Given the description of an element on the screen output the (x, y) to click on. 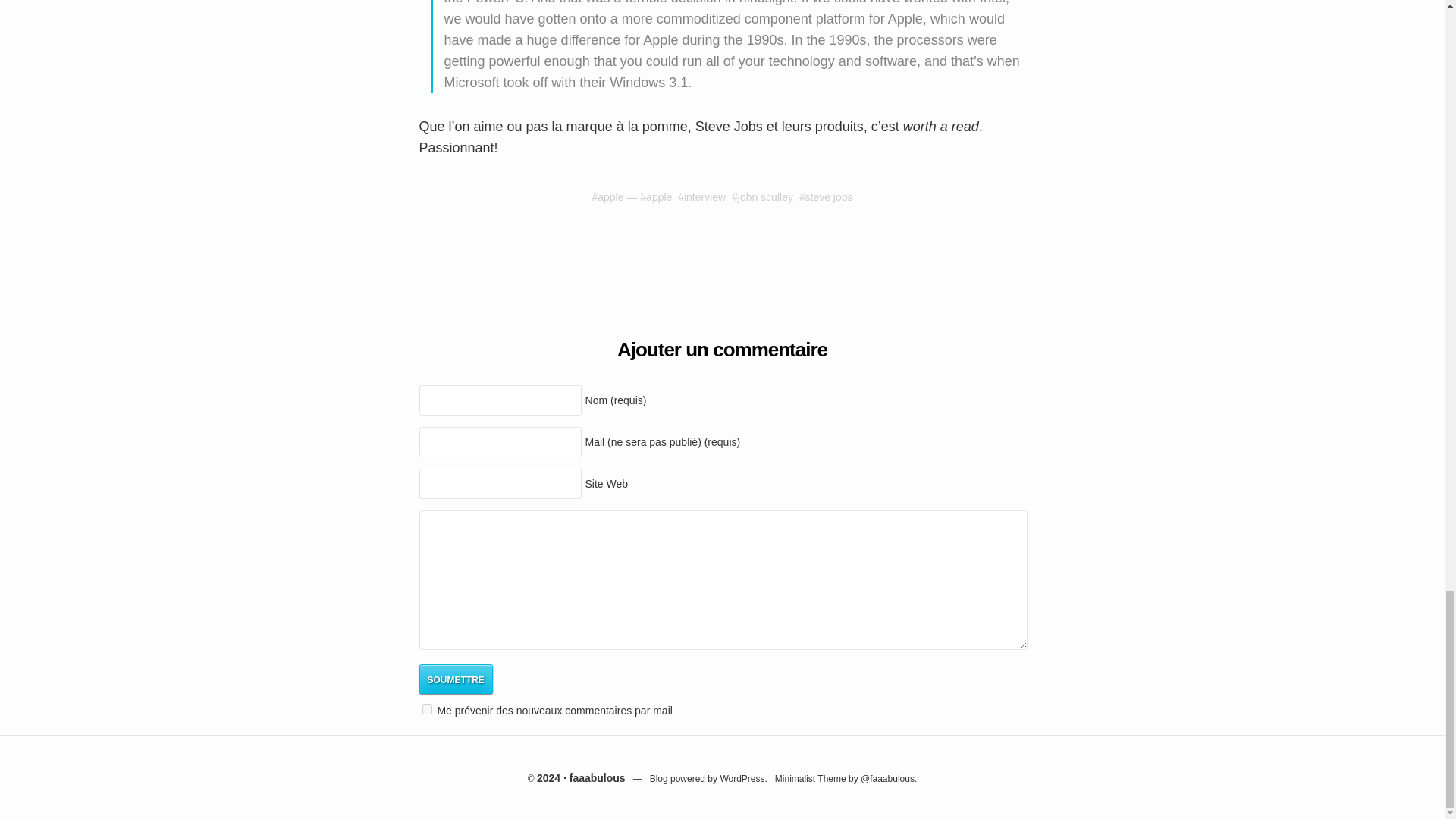
Soumettre (455, 678)
Soumettre (455, 678)
interview (704, 196)
john sculley (765, 196)
subscribe (426, 709)
apple (658, 196)
apple (609, 196)
WordPress (741, 779)
steve jobs (829, 196)
